Given the description of an element on the screen output the (x, y) to click on. 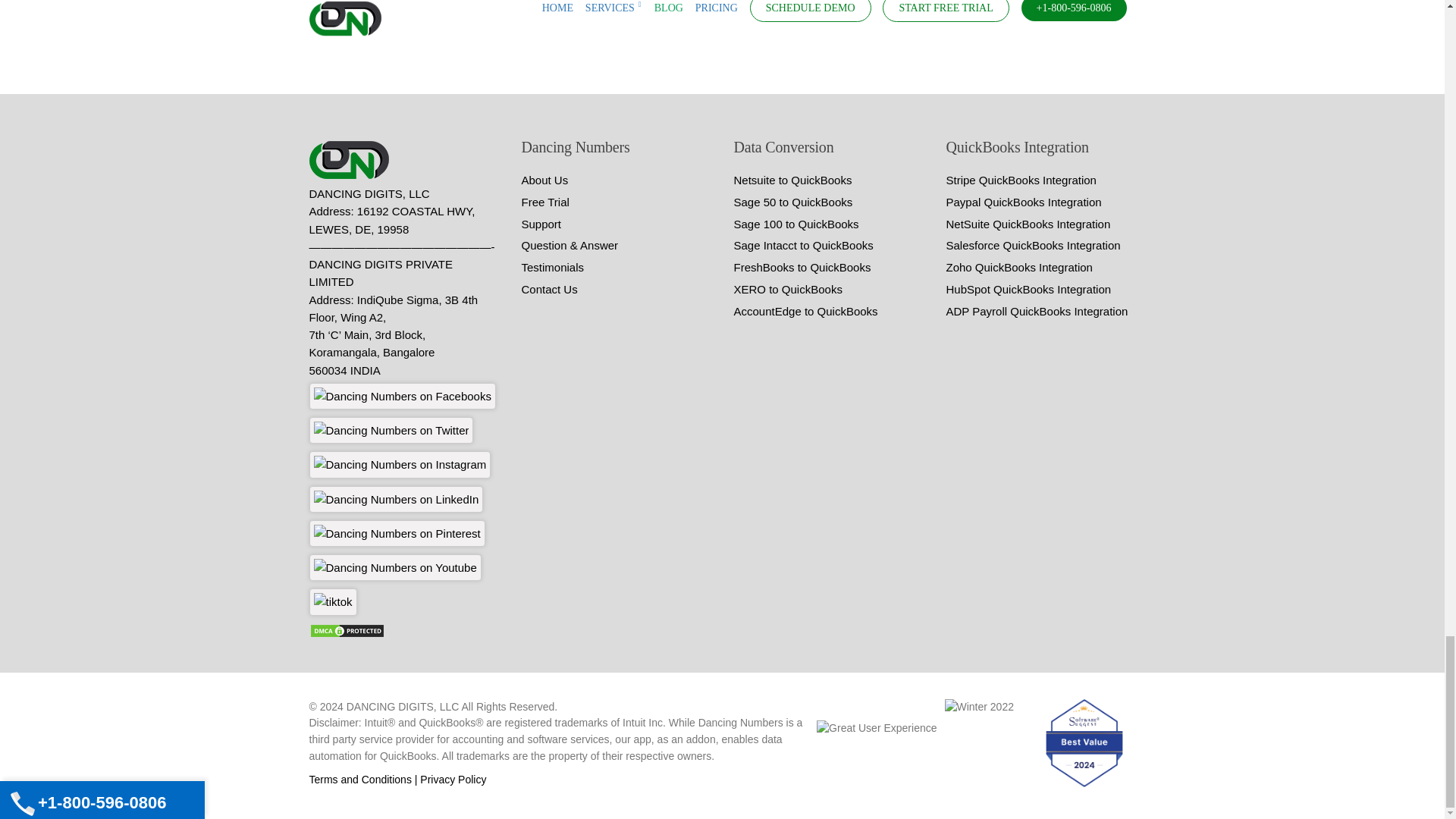
Dancing Numbers on Twitter (391, 429)
Dancing Numbers on Instagram (400, 464)
Dancing Numbers on Facebooks (402, 396)
Dancing Numbers (352, 159)
